Given the description of an element on the screen output the (x, y) to click on. 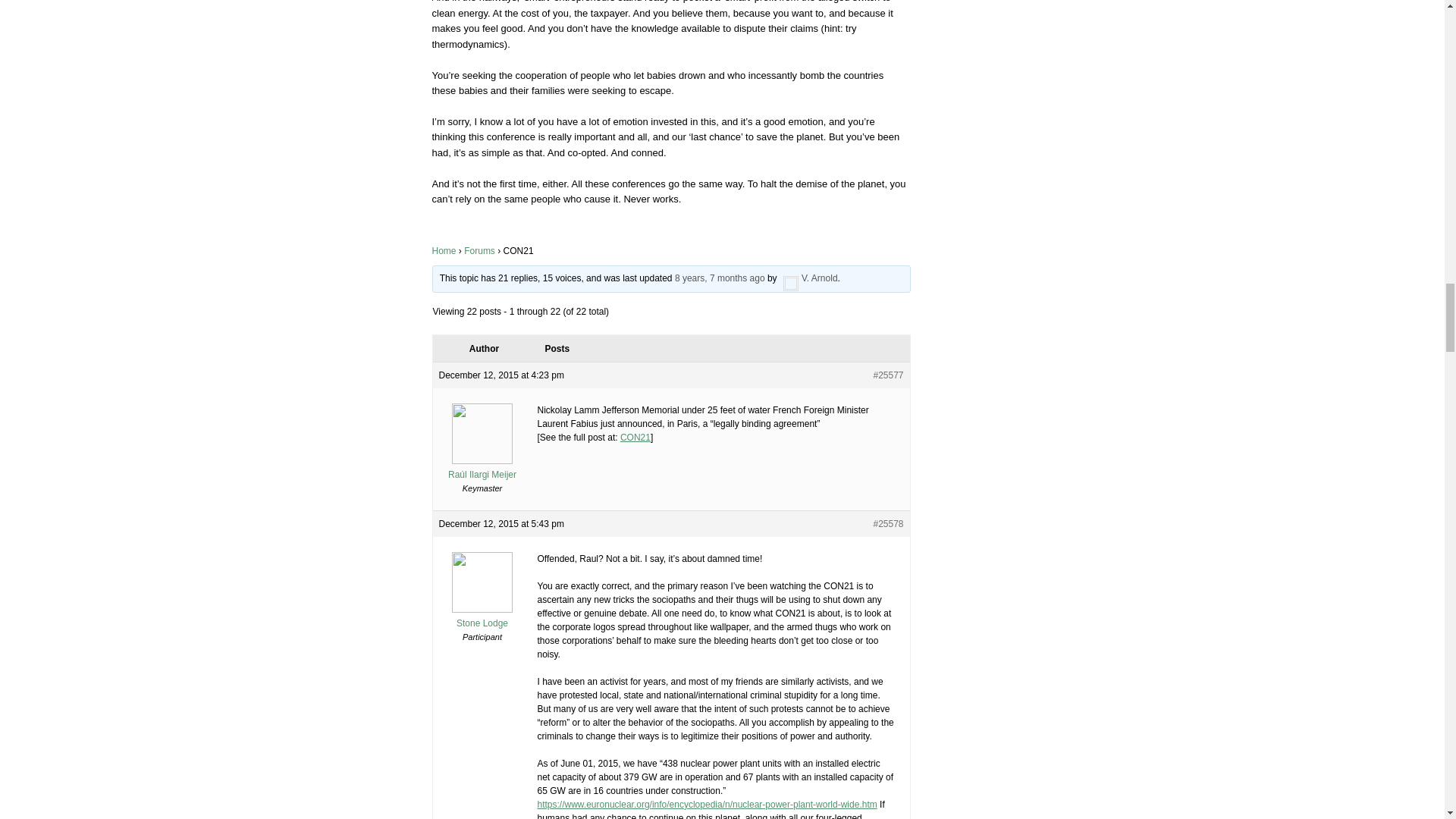
Reply To: CON21 (720, 277)
Home (444, 250)
V. Arnold (808, 277)
CON21 (635, 437)
View Stone Lodge's profile (481, 616)
Forums (479, 250)
8 years, 7 months ago (720, 277)
Stone Lodge (481, 616)
View V. Arnold's profile (808, 277)
